Given the description of an element on the screen output the (x, y) to click on. 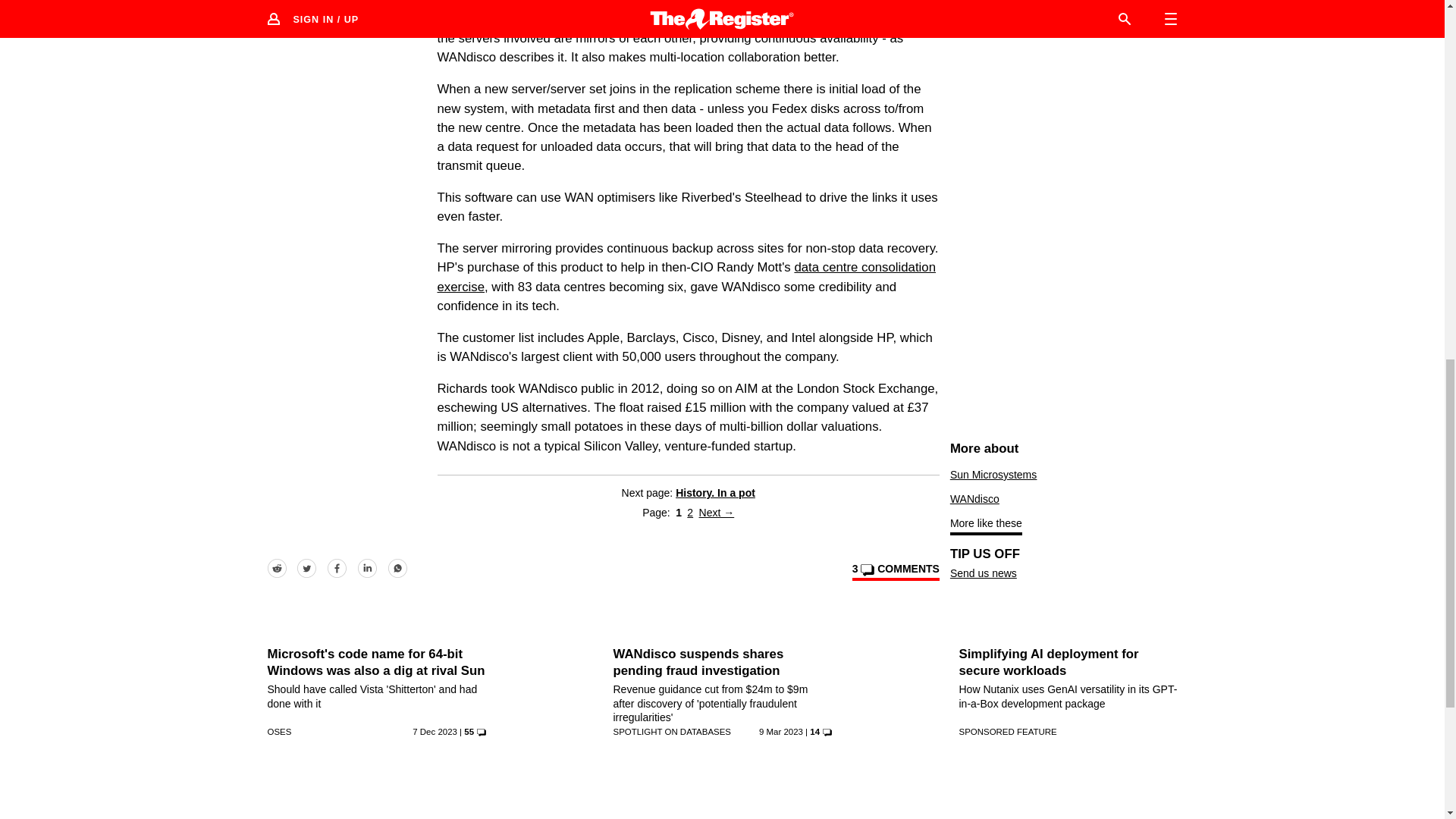
View comments on this article (895, 571)
7 Dec 2023 9:30 (434, 731)
9 Mar 2023 12:28 (780, 731)
